Given the description of an element on the screen output the (x, y) to click on. 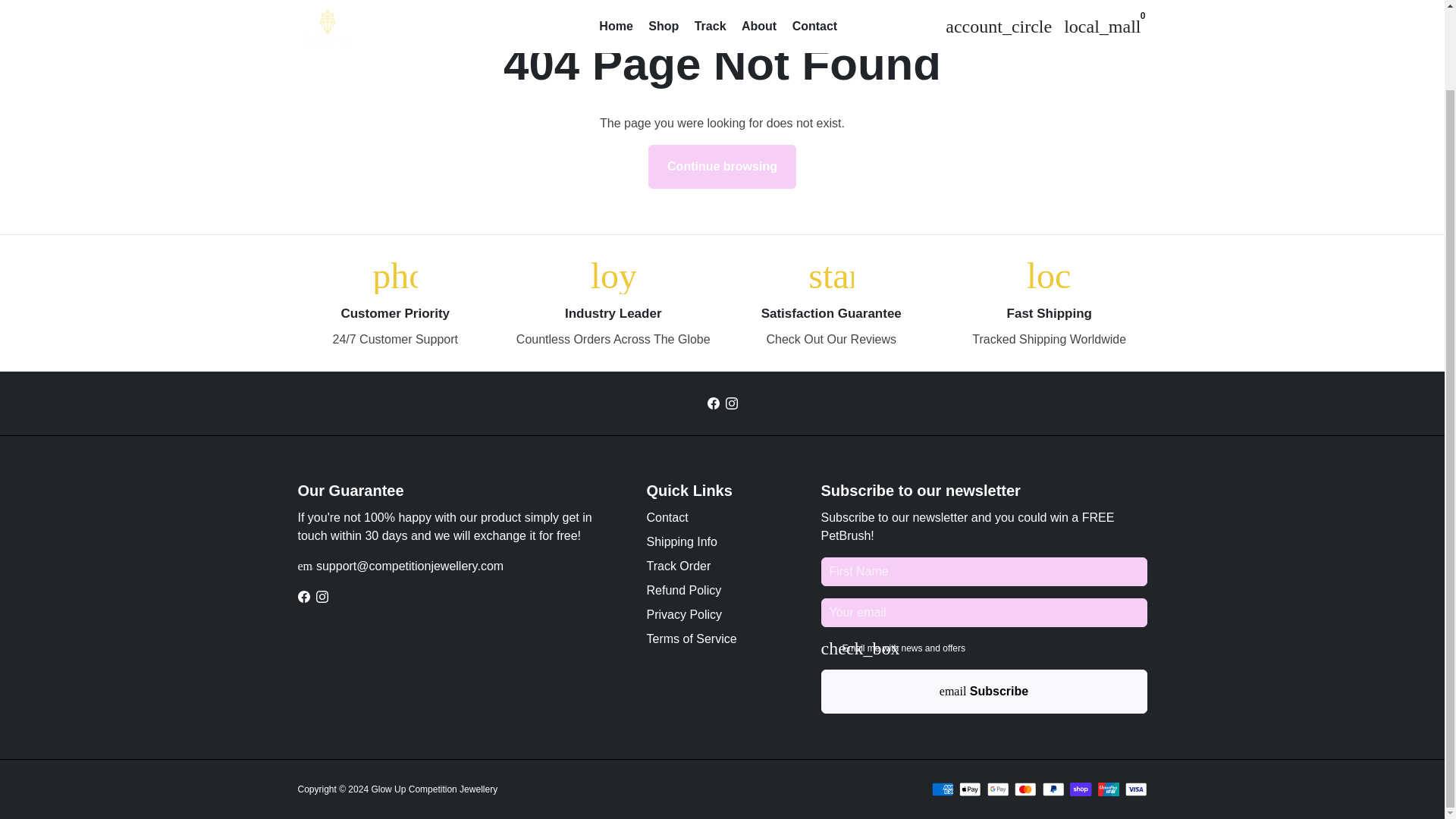
American Express (941, 789)
Glow Up Competition Jewellery on Facebook (712, 402)
Google Pay (998, 789)
Apple Pay (970, 789)
Union Pay (1108, 789)
Glow Up Competition Jewellery on Facebook (302, 595)
Shop Pay (1081, 789)
Glow Up Competition Jewellery on Instagram (321, 595)
Visa (1136, 789)
Glow Up Competition Jewellery on Instagram (730, 402)
PayPal (1052, 789)
Mastercard (1025, 789)
Continue browsing (721, 166)
